Given the description of an element on the screen output the (x, y) to click on. 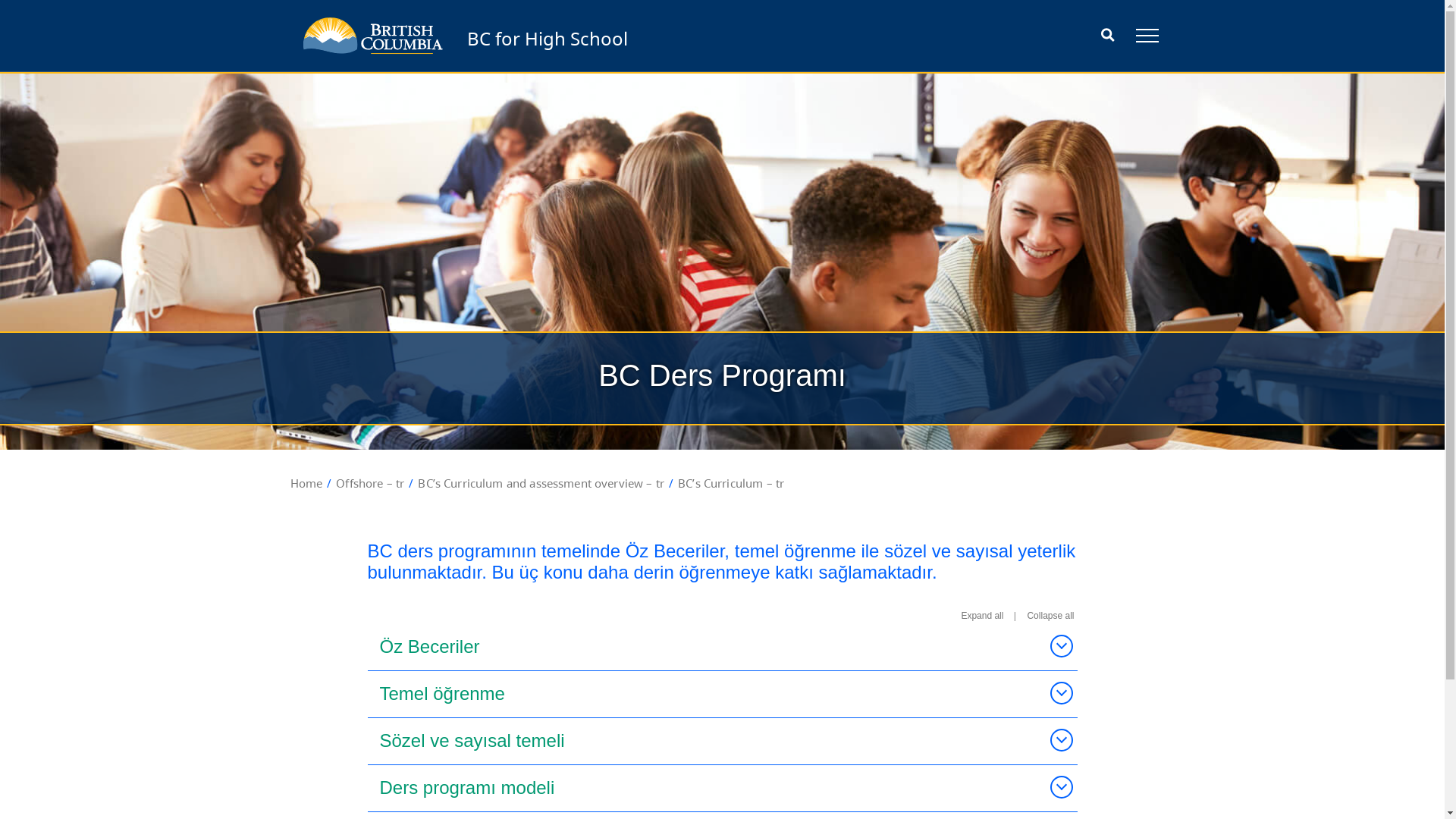
Collapse all Element type: text (1049, 615)
Home Element type: text (305, 482)
Expand all Element type: text (981, 615)
